Given the description of an element on the screen output the (x, y) to click on. 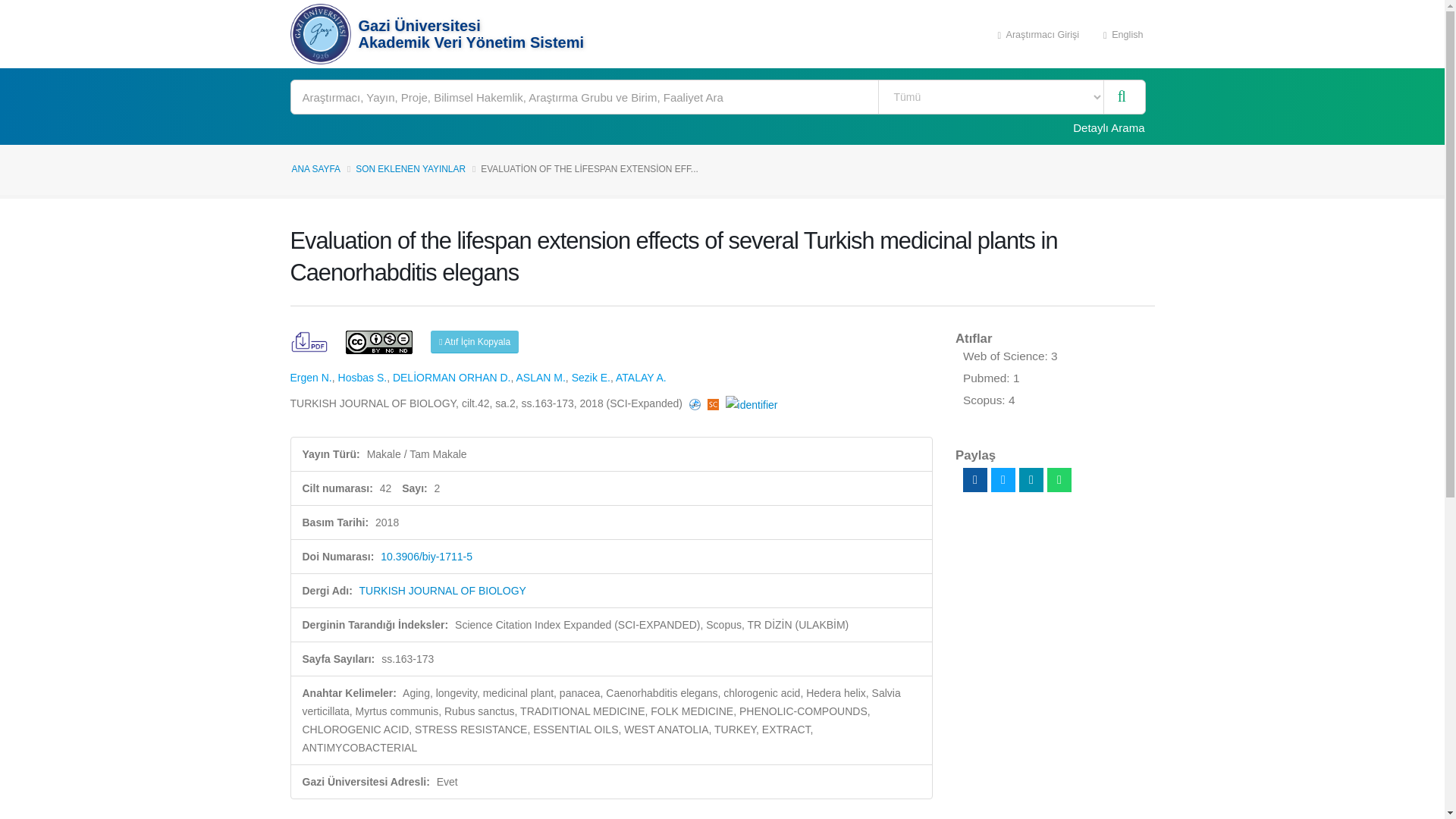
Sanem Hosbas (362, 377)
Sezik E. (591, 377)
ASLAN M. (539, 377)
Ergen N. (310, 377)
TURKISH JOURNAL OF BIOLOGY (442, 590)
SON EKLENEN YAYINLAR (410, 168)
Hosbas S. (362, 377)
English (1123, 33)
ATALAY A. (640, 377)
Ekrem Sezik (591, 377)
